Given the description of an element on the screen output the (x, y) to click on. 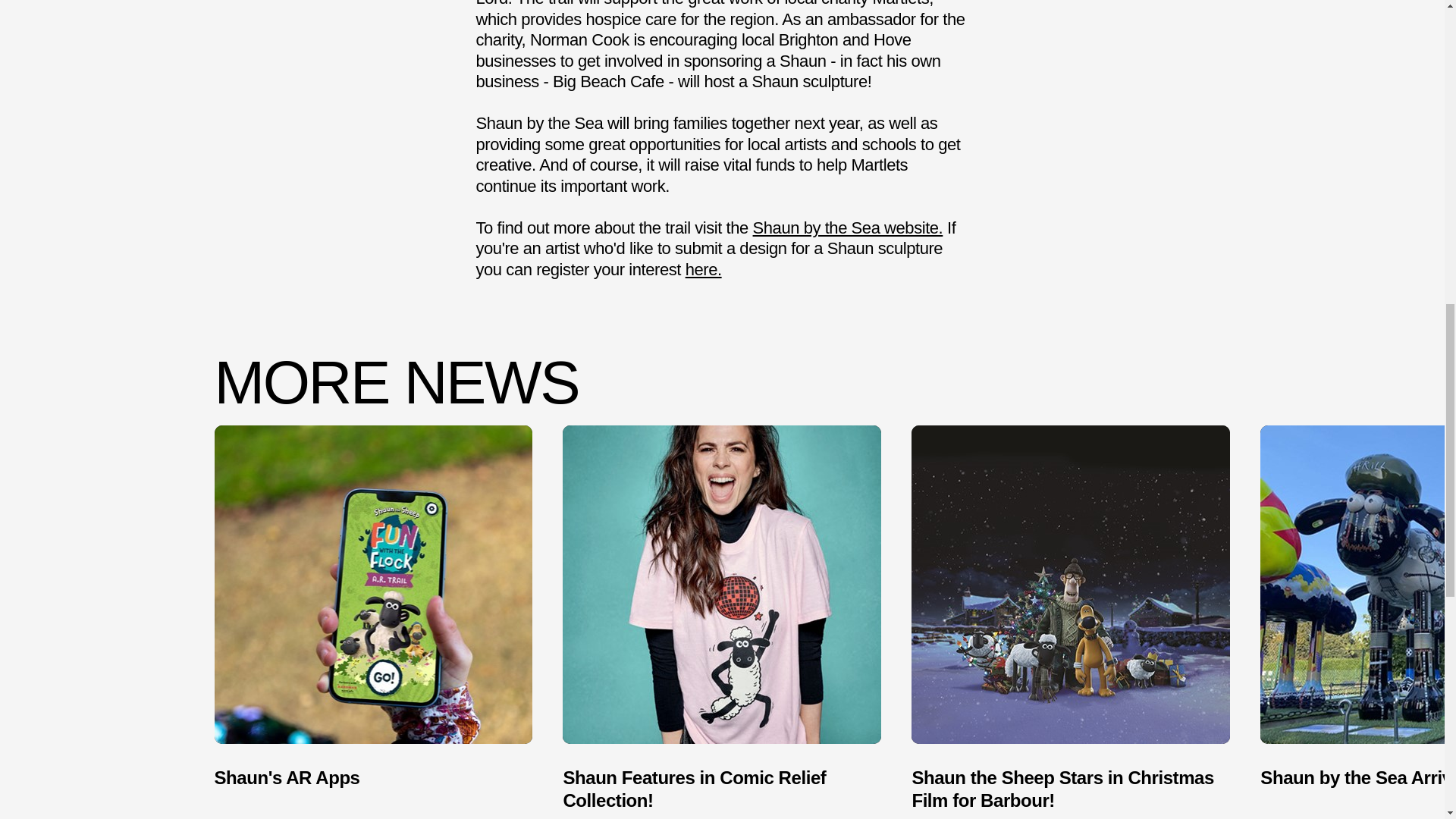
here. (703, 268)
Shaun by the Sea website. (847, 227)
